Given the description of an element on the screen output the (x, y) to click on. 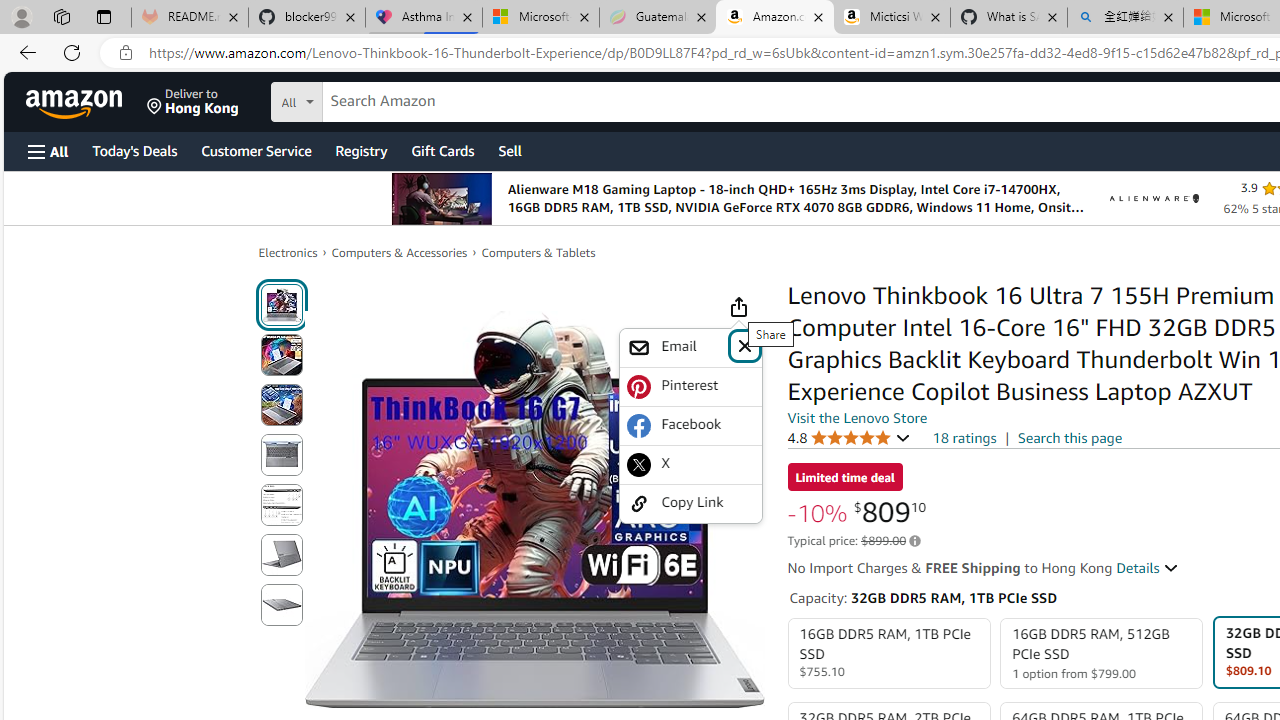
Facebook (690, 425)
Email (690, 347)
16GB DDR5 RAM, 1TB PCIe SSD $755.10 (888, 653)
Electronics (287, 251)
Copy Link (690, 502)
Search this page (1069, 437)
